Given the description of an element on the screen output the (x, y) to click on. 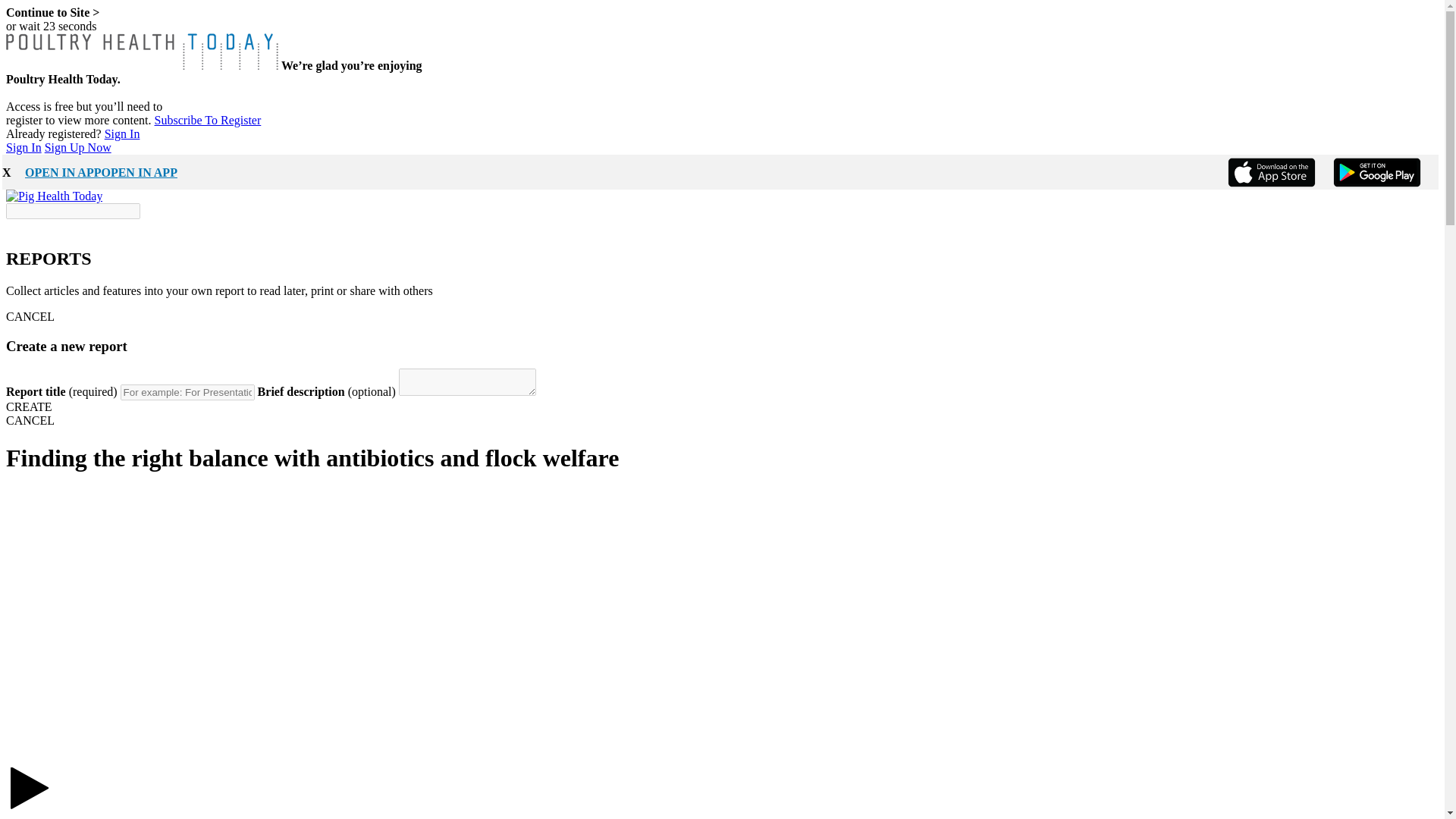
OPEN IN APP (62, 166)
Sign In (121, 133)
Sign Up Now (78, 146)
Sign In (23, 146)
OPEN IN APP (138, 166)
Subscribe To Register (208, 119)
